Given the description of an element on the screen output the (x, y) to click on. 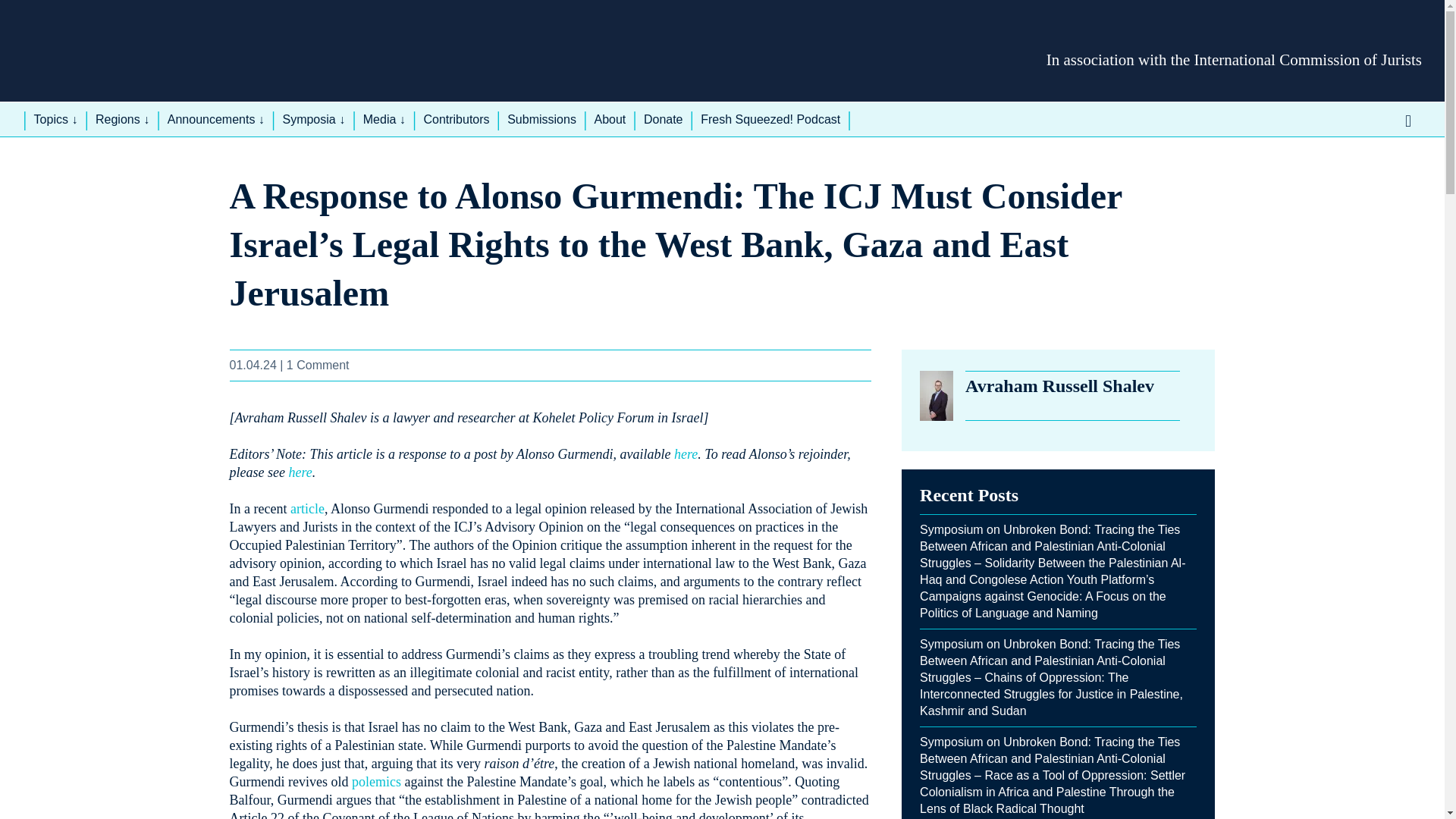
Donate (663, 119)
Submissions (541, 119)
Contributors (456, 119)
Donate (663, 119)
About (608, 119)
In association with the International Commission of Jurists (1234, 59)
Fresh Squeezed! Podcast (770, 119)
